Given the description of an element on the screen output the (x, y) to click on. 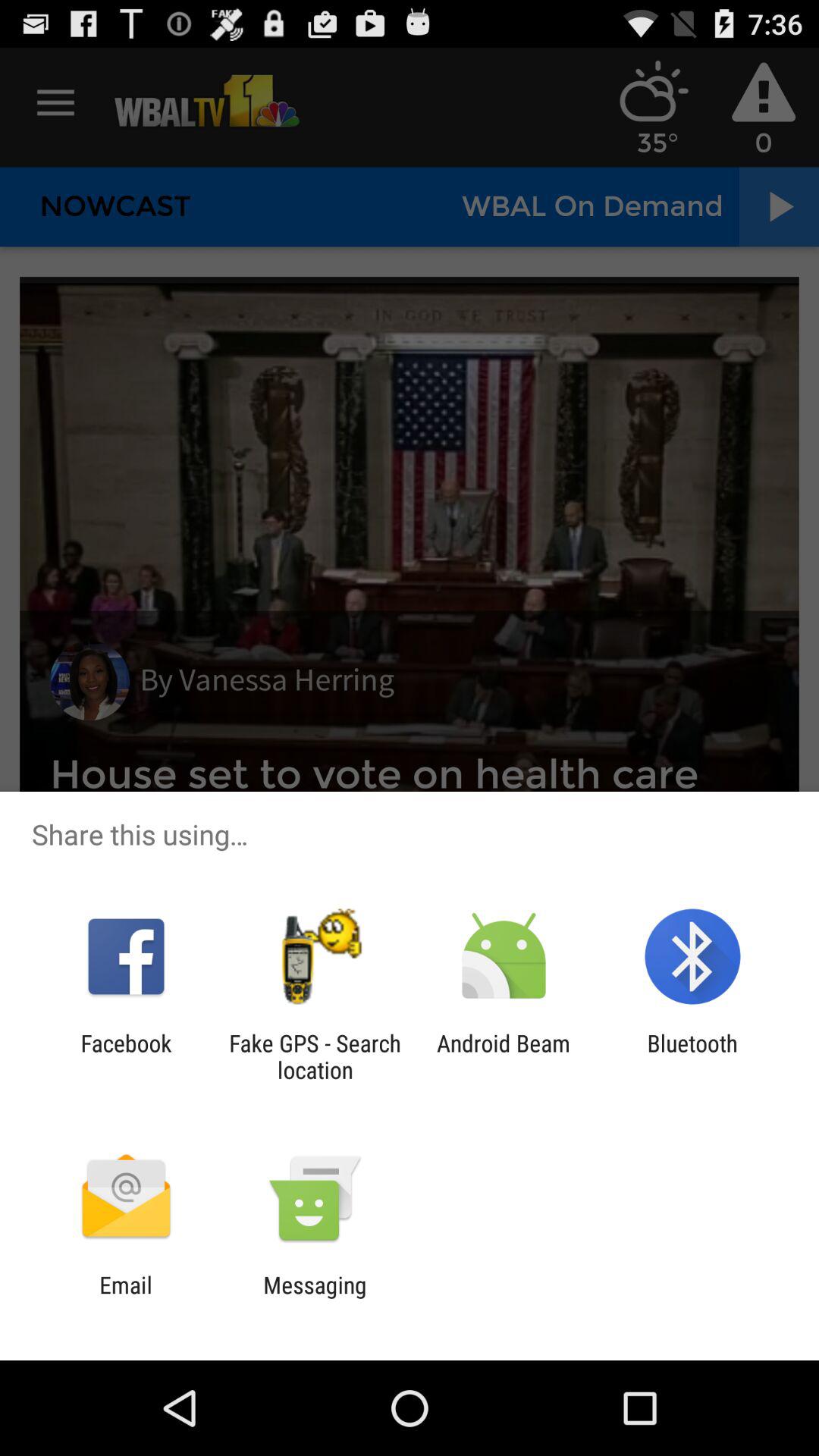
select email app (125, 1298)
